Given the description of an element on the screen output the (x, y) to click on. 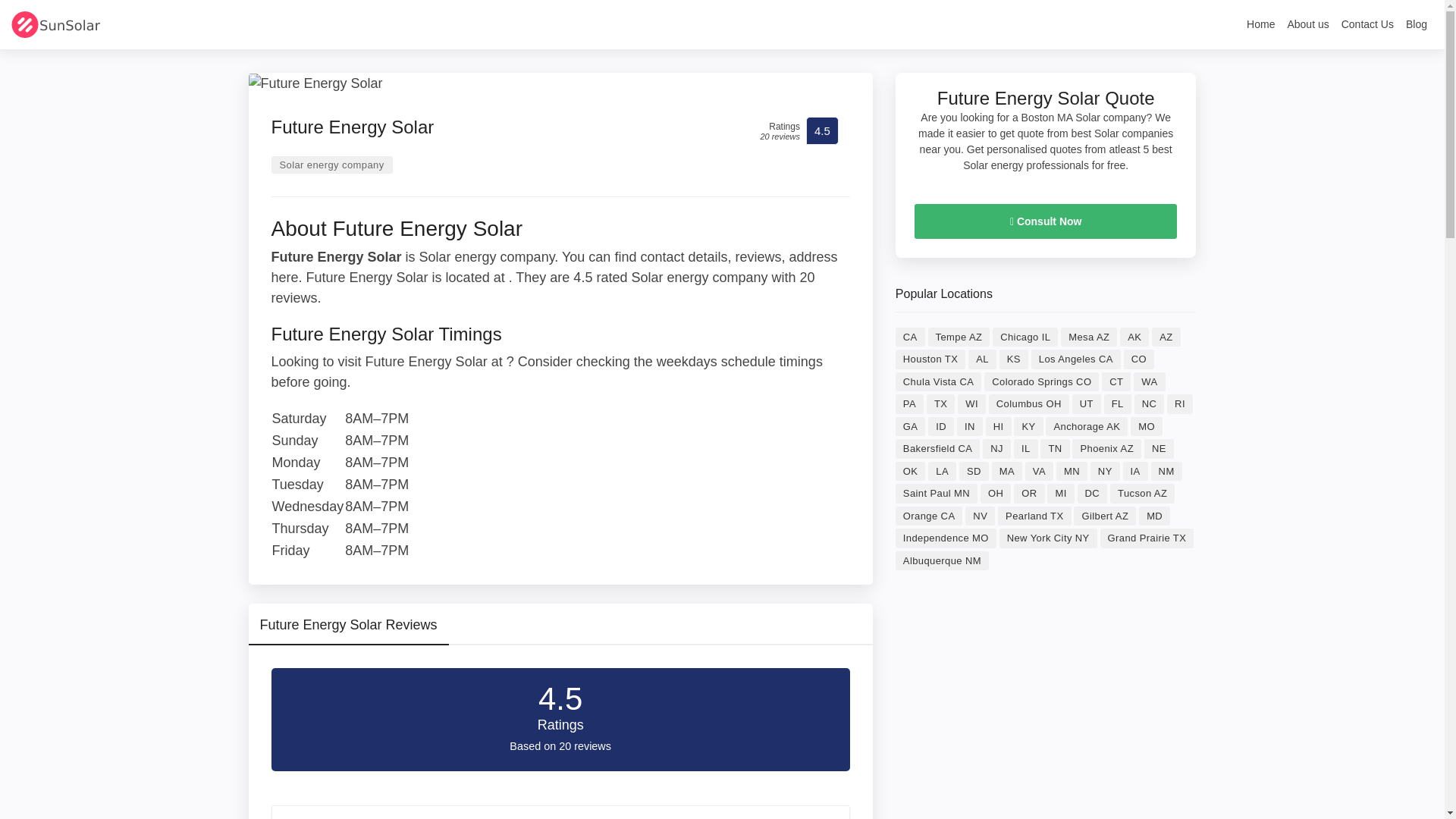
TX (940, 403)
UT (1085, 403)
WA (1149, 382)
Future Energy Solar Reviews (348, 630)
Mesa AZ (1088, 337)
Home (1260, 28)
AZ (1165, 337)
GA (910, 426)
NC (1149, 403)
Houston TX (930, 359)
